Given the description of an element on the screen output the (x, y) to click on. 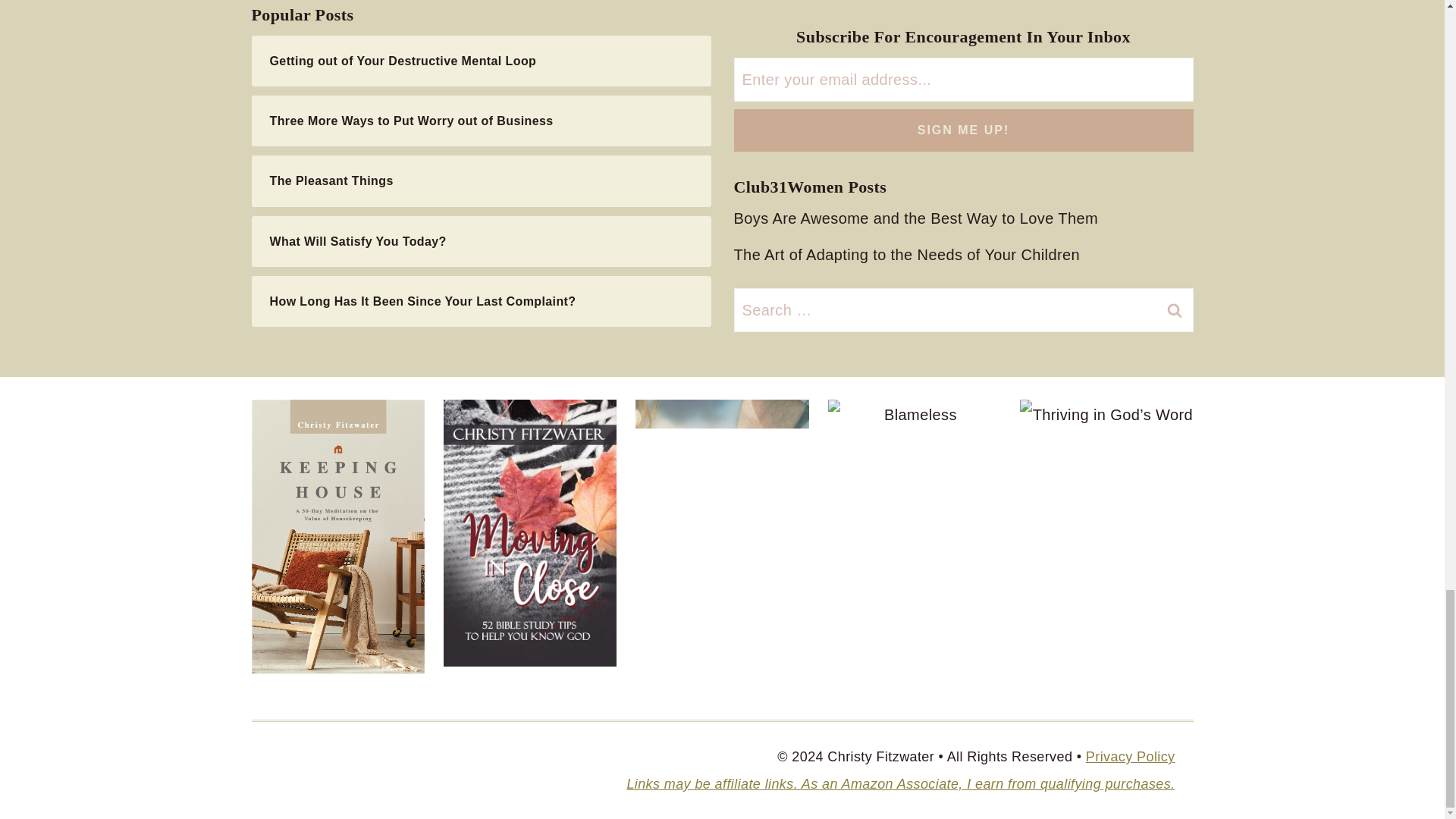
Boys Are Awesome and the Best Way to Love Them (919, 217)
The Pleasant Things (481, 180)
Getting out of Your Destructive Mental Loop (481, 60)
The Art of Adapting to the Needs of Your Children (910, 254)
Sign Me Up! (963, 129)
Club31Women Posts (809, 186)
What Will Satisfy You Today? (481, 241)
Three More Ways to Put Worry out of Business (481, 120)
Sign Me Up! (963, 129)
How Long Has It Been Since Your Last Complaint? (481, 301)
